Given the description of an element on the screen output the (x, y) to click on. 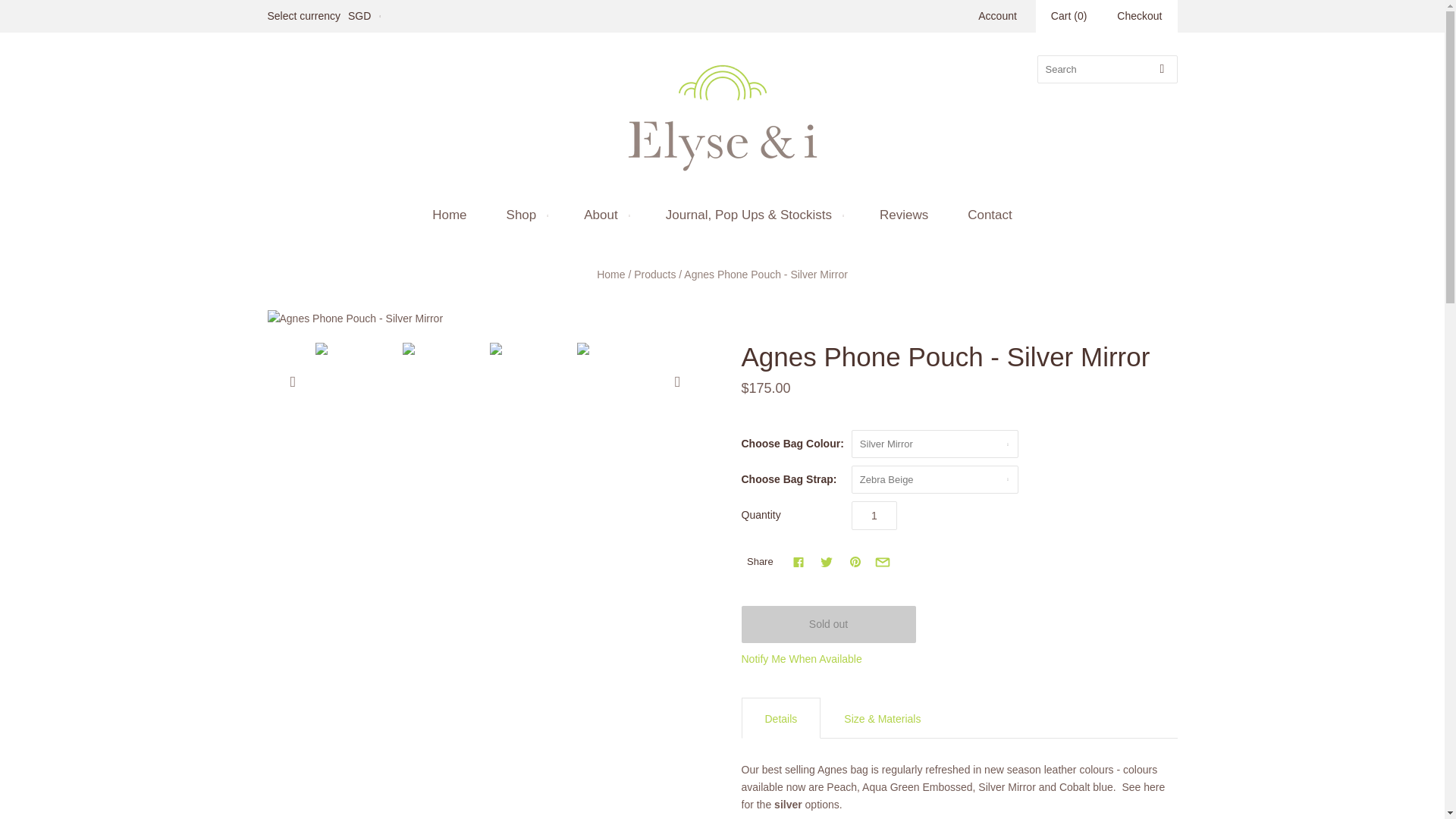
Account (997, 15)
Sold out (828, 624)
Checkout (1139, 16)
1 (873, 515)
Shop (525, 214)
Home (449, 214)
